Given the description of an element on the screen output the (x, y) to click on. 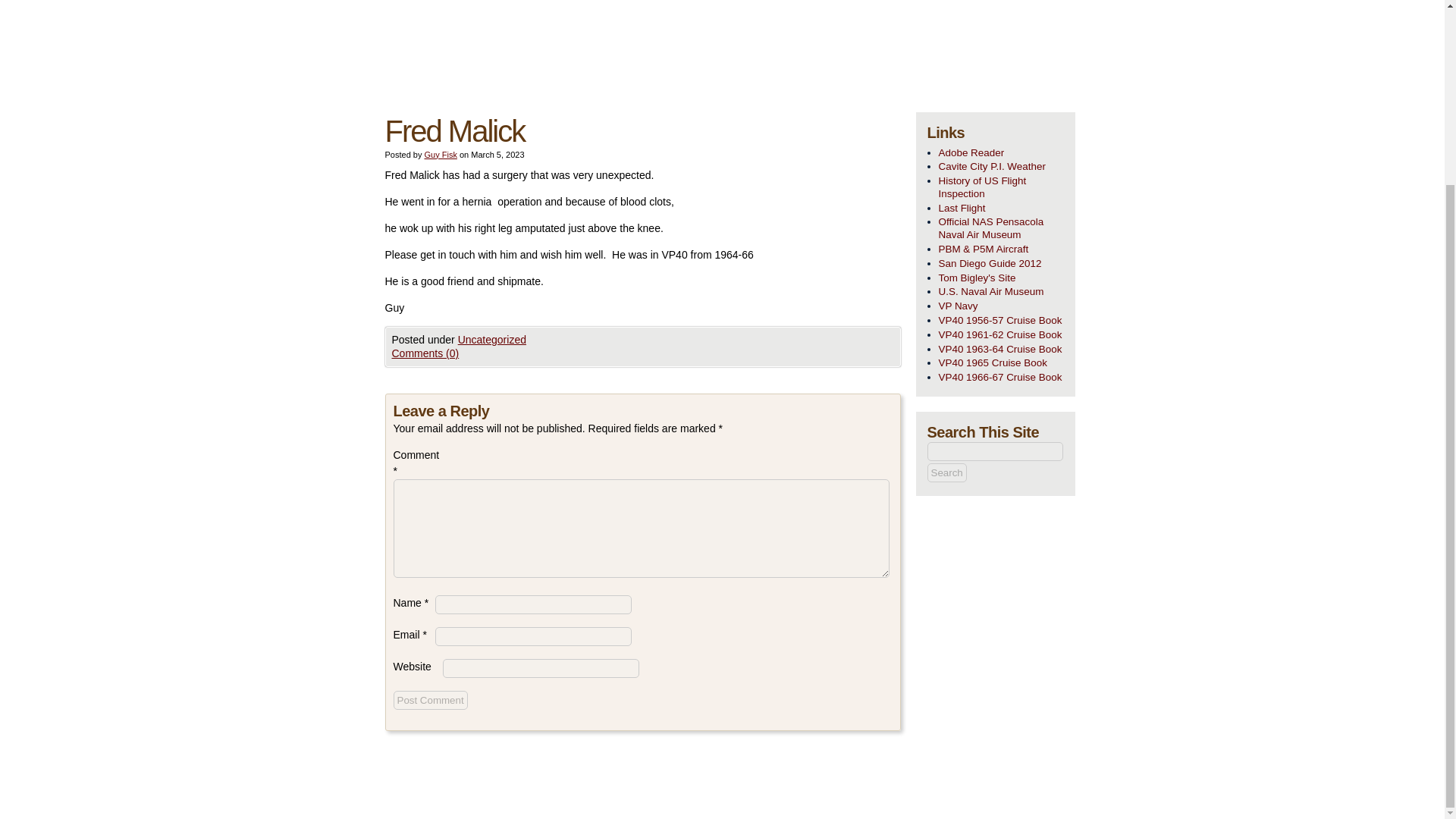
Last Flight (1001, 208)
1956-1957 VP40 Cruise Book (1001, 320)
VP40 1965 Cruise Book (1001, 363)
great pictures of the planes and layout of the museum (1001, 292)
VP Navy (1001, 306)
Post Comment (430, 700)
Patrol Squadrons in the US Navy (1001, 306)
VP40 1963-64 Cruise Book (1001, 350)
NAS Museum, Pensacola FL (1001, 228)
VP40 1956-57 Cruise Book (1001, 320)
